Given the description of an element on the screen output the (x, y) to click on. 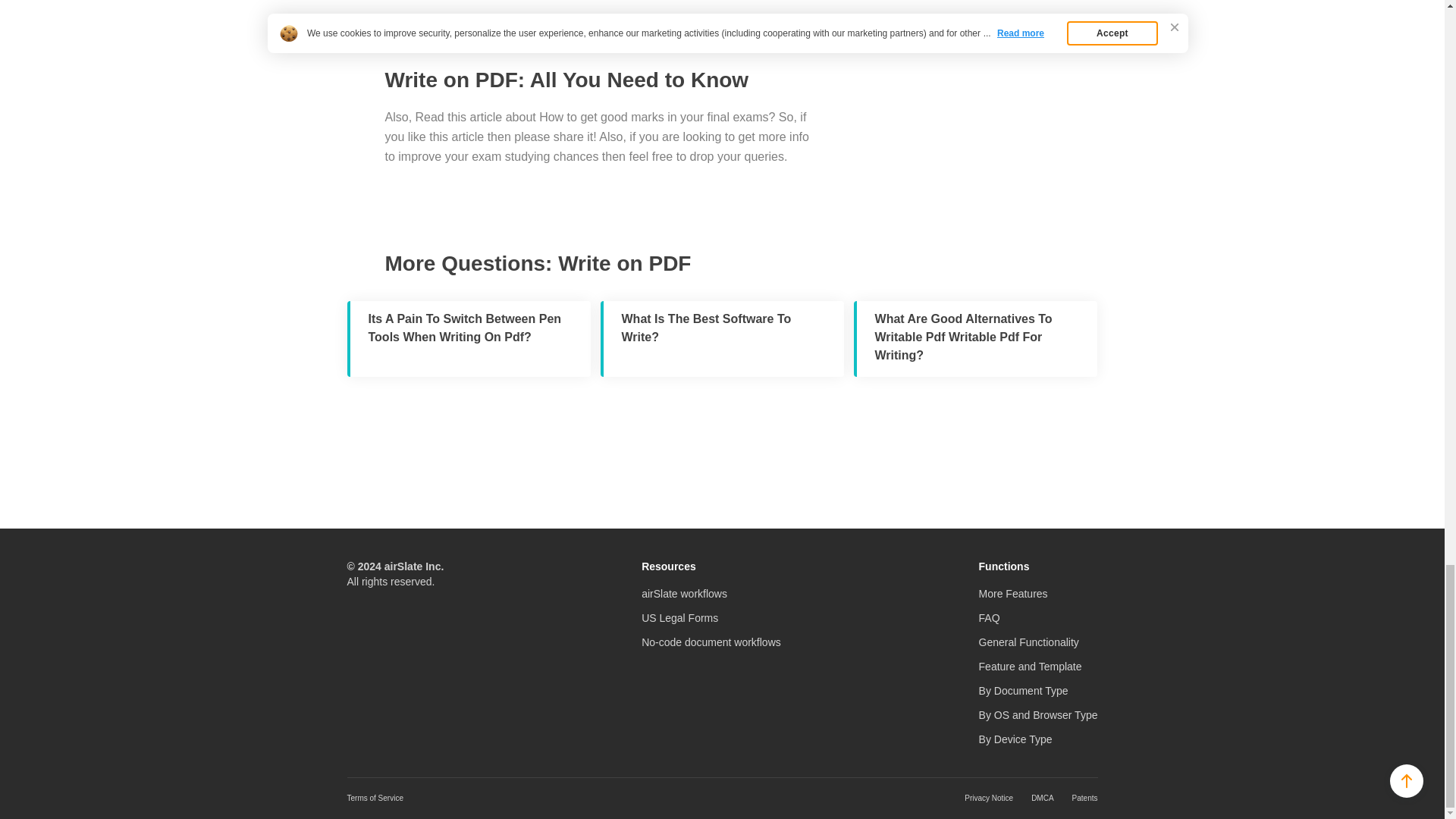
Patents (1084, 798)
airSlate workflows (684, 593)
By OS and Browser Type (1037, 715)
No-code document workflows (711, 642)
FAQ (989, 617)
Terms of Service (375, 797)
General Functionality (1028, 642)
Its A Pain To Switch Between Pen Tools When Writing On Pdf? (469, 338)
Privacy Notice (988, 798)
US Legal Forms (679, 617)
Feature and Template (1029, 666)
More Features (1013, 593)
By Device Type (1015, 739)
What Is The Best Software To Write? (721, 338)
